Given the description of an element on the screen output the (x, y) to click on. 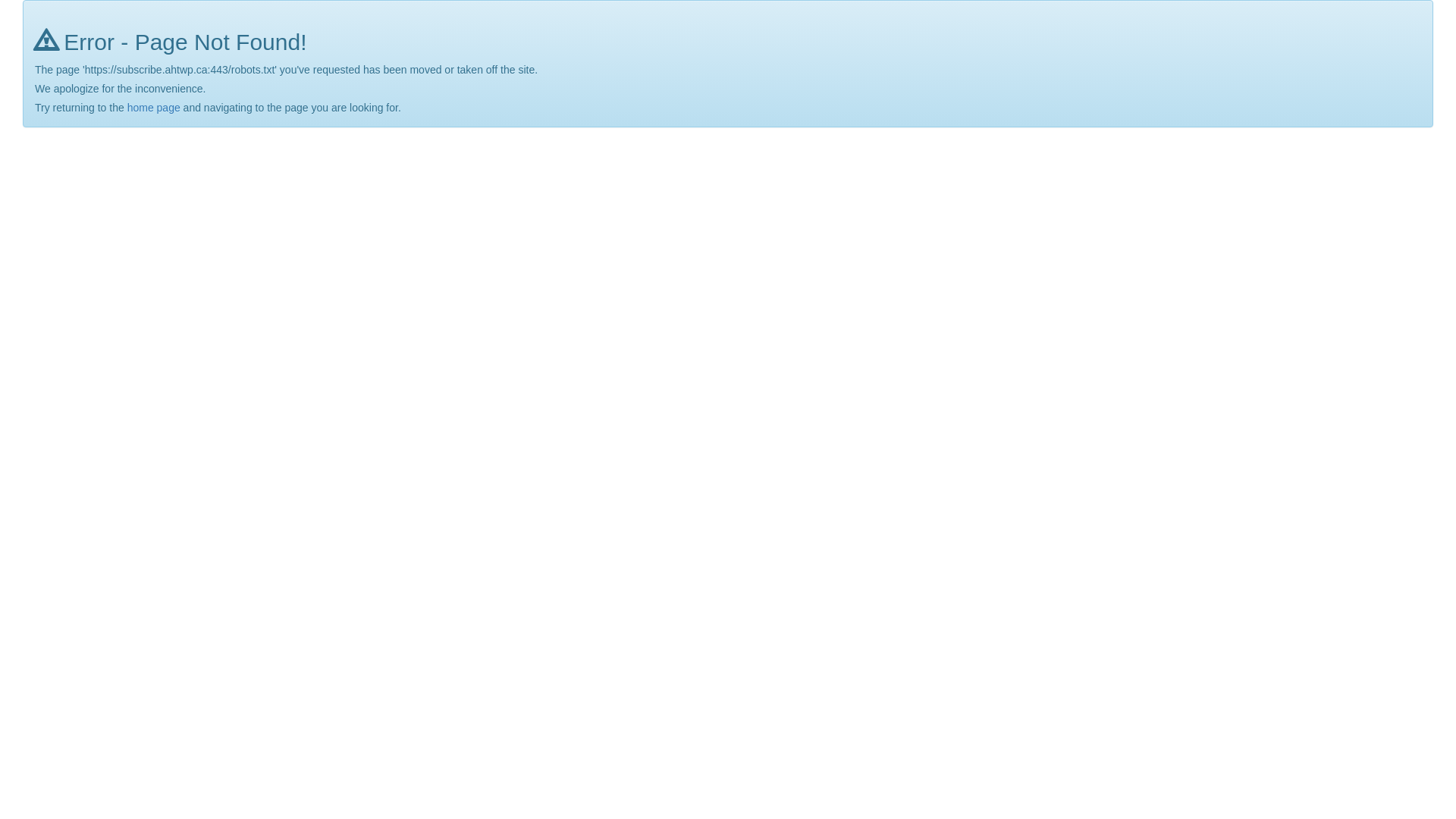
home page Element type: text (153, 107)
